Given the description of an element on the screen output the (x, y) to click on. 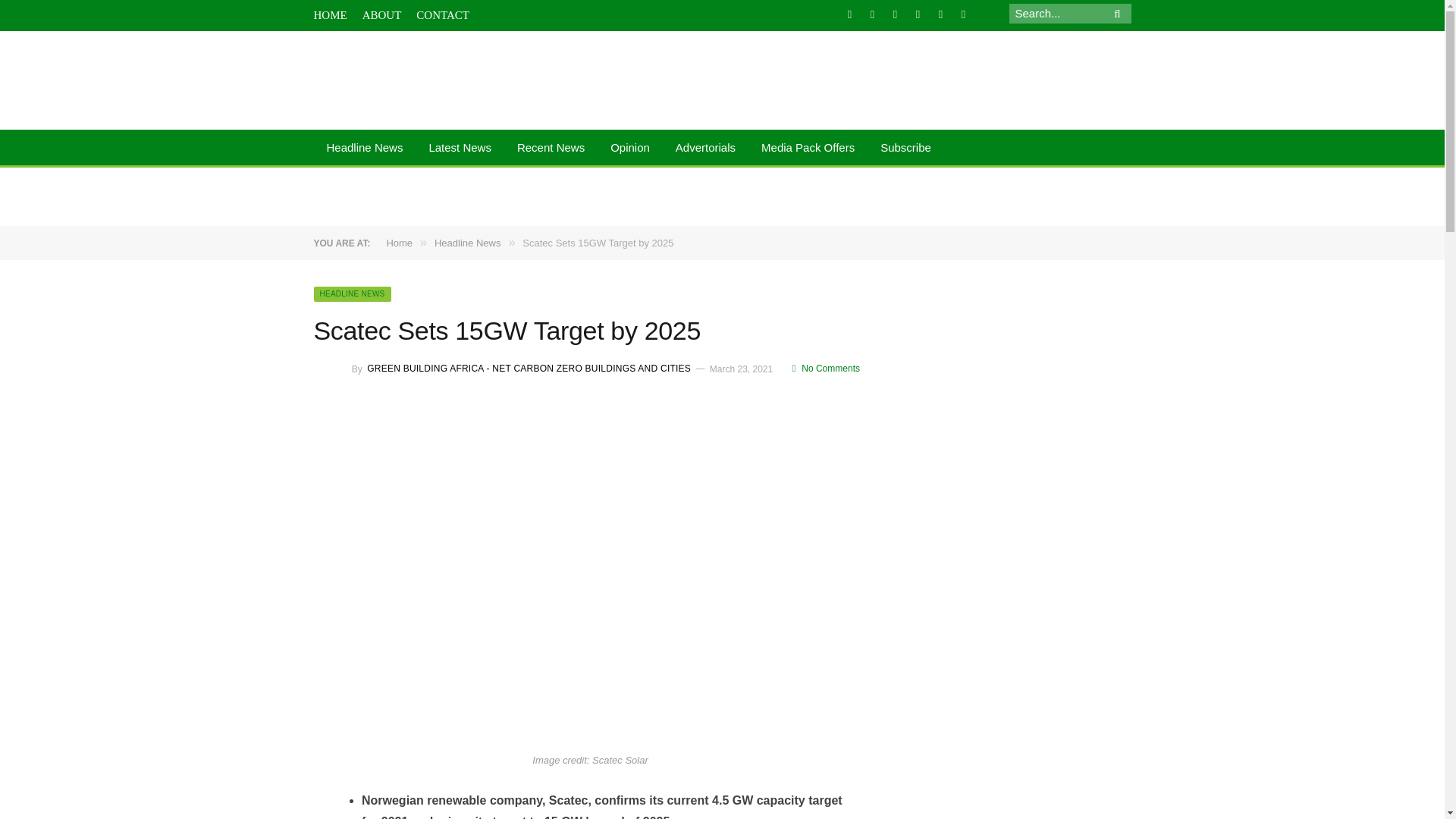
Pinerest (940, 14)
Twitter (871, 14)
CONTACT (442, 15)
YouTube (963, 14)
Facebook (849, 14)
Opinion (629, 148)
Subscribe (905, 148)
Media Pack Offers (807, 148)
Huawei GBA 2024 728x90 (1017, 196)
Instagram (917, 14)
